Given the description of an element on the screen output the (x, y) to click on. 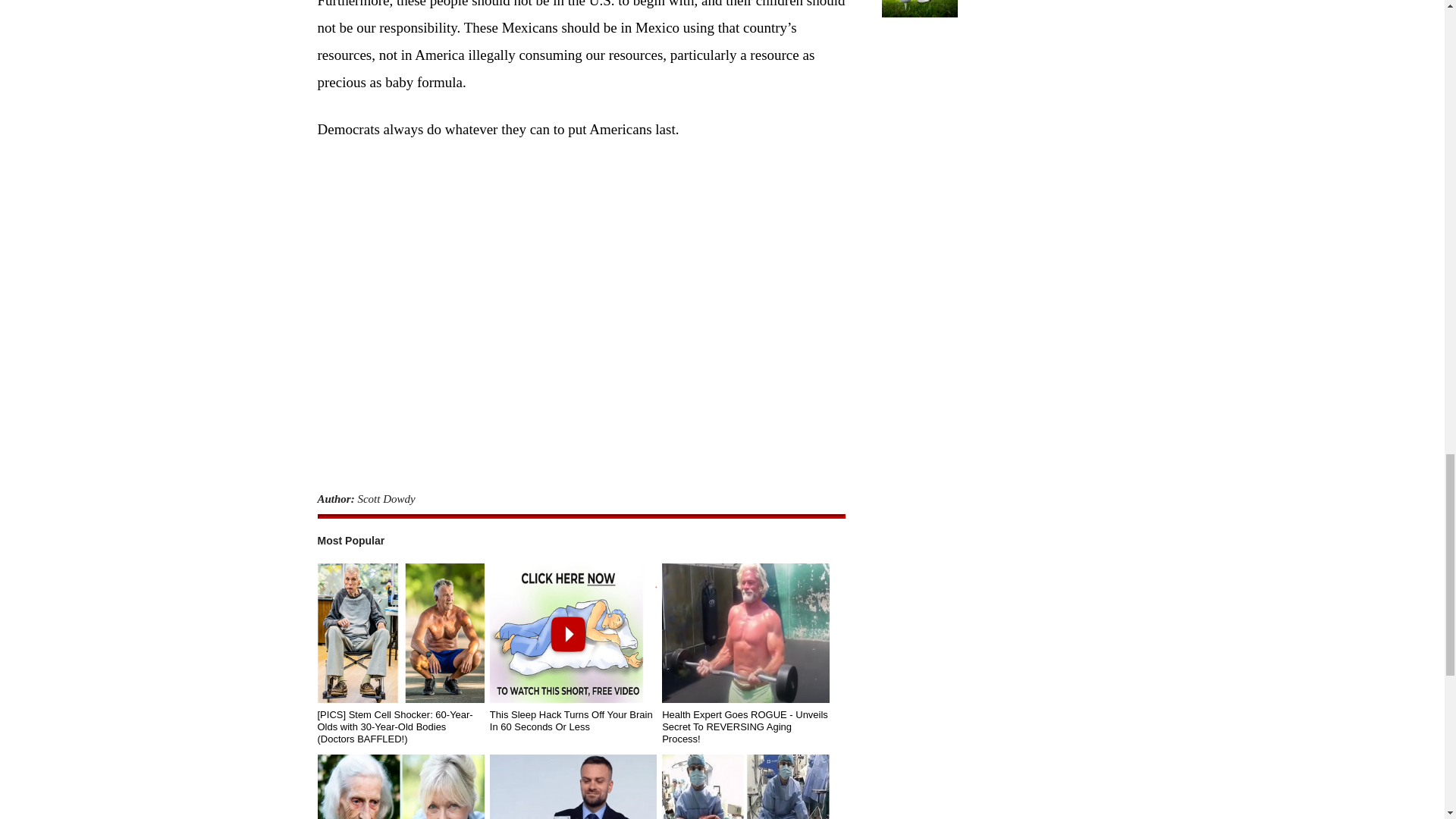
This Sleep Hack Turns Off Your Brain In 60 Seconds Or Less (572, 721)
This Sleep Hack Turns Off Your Brain In 60 Seconds Or Less (572, 632)
This  (572, 786)
